Given the description of an element on the screen output the (x, y) to click on. 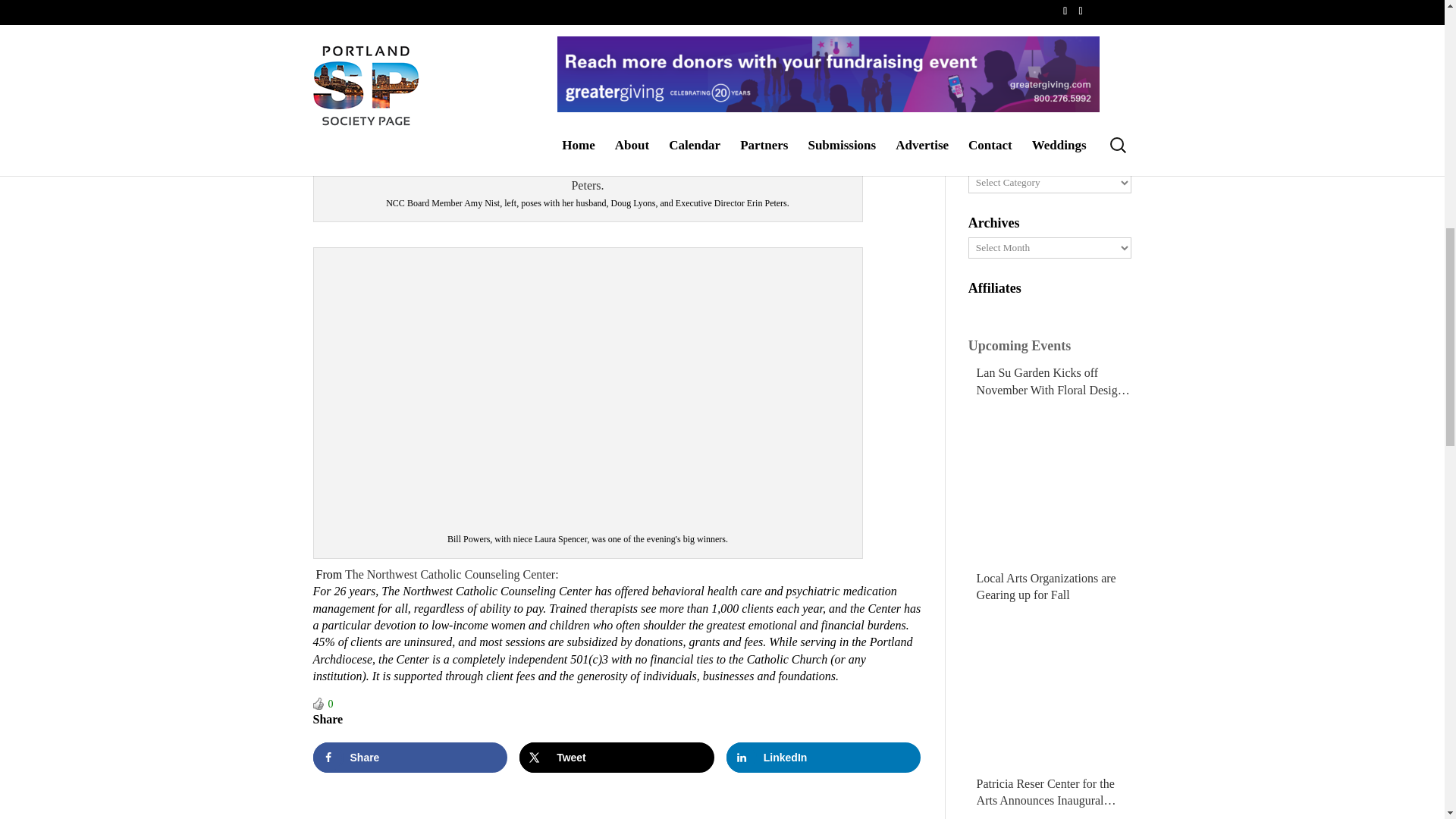
Tweet (616, 757)
The Northwest Catholic Counseling Center: (452, 574)
LinkedIn (823, 757)
Share on X (616, 757)
Share (409, 757)
Share on Facebook (409, 757)
Share on LinkedIn (823, 757)
